Given the description of an element on the screen output the (x, y) to click on. 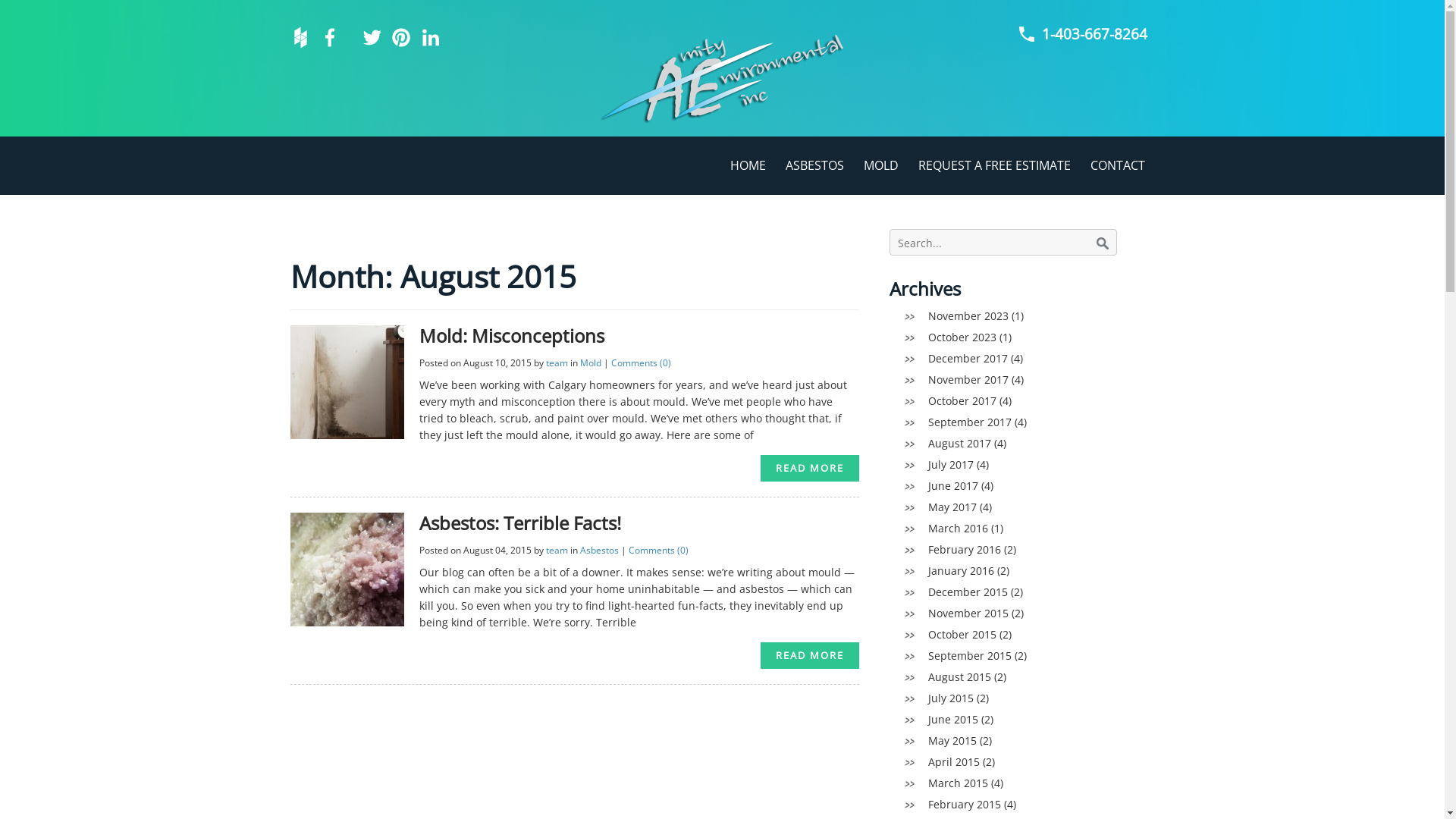
November 2023 Element type: text (968, 315)
September 2017 Element type: text (969, 421)
Asbestos: Terrible Facts! Element type: text (519, 522)
October 2023 Element type: text (962, 336)
READ MORE Element type: text (808, 655)
April 2015 Element type: text (953, 761)
HOME Element type: text (747, 165)
August 2015 Element type: text (959, 676)
February 2015 Element type: text (964, 804)
ASBESTOS Element type: text (814, 165)
Mold Element type: text (589, 362)
June 2015 Element type: text (953, 719)
Mold: Misconceptions Element type: text (510, 335)
Asbestos Element type: text (598, 549)
July 2017 Element type: text (950, 464)
READ MORE Element type: text (808, 468)
May 2017 Element type: text (952, 506)
June 2017 Element type: text (953, 485)
Comments (0) Element type: text (657, 549)
October 2015 Element type: text (962, 634)
Comments (0) Element type: text (641, 362)
team Element type: text (556, 549)
CONTACT Element type: text (1116, 165)
October 2017 Element type: text (962, 400)
July 2015 Element type: text (950, 697)
May 2015 Element type: text (952, 740)
September 2015 Element type: text (969, 655)
March 2015 Element type: text (958, 782)
December 2015 Element type: text (967, 591)
team Element type: text (556, 362)
December 2017 Element type: text (967, 358)
August 2017 Element type: text (959, 443)
Search Element type: text (1101, 242)
November 2017 Element type: text (968, 379)
REQUEST A FREE ESTIMATE Element type: text (994, 165)
February 2016 Element type: text (964, 549)
November 2015 Element type: text (968, 612)
January 2016 Element type: text (961, 570)
March 2016 Element type: text (958, 527)
MOLD Element type: text (880, 165)
